Given the description of an element on the screen output the (x, y) to click on. 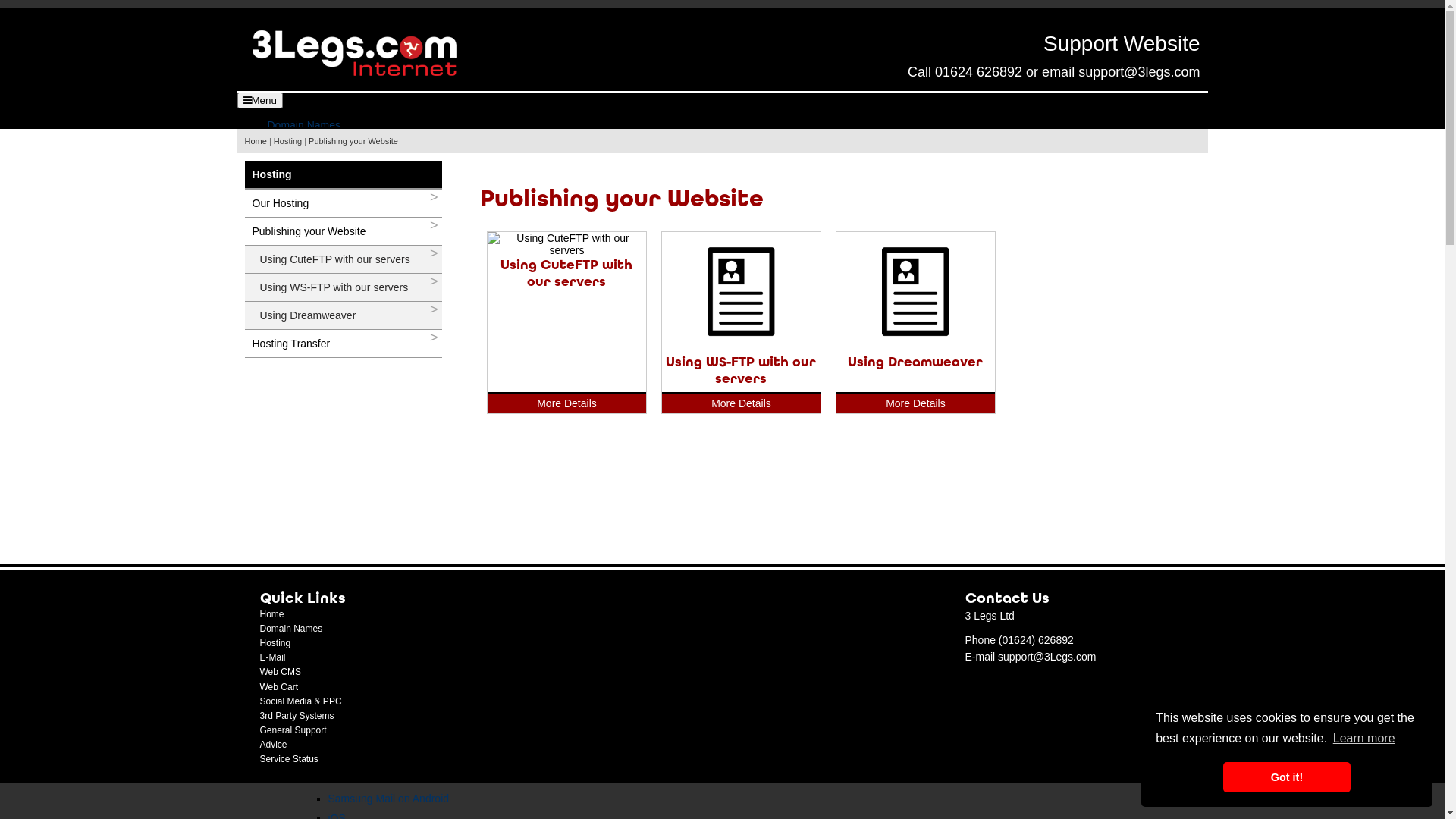
Hosting Element type: text (274, 642)
Transferring your website to Us Element type: text (400, 493)
Back to Homepage Element type: hover (353, 52)
Domain Administration Element type: text (350, 228)
E-Mail Element type: text (272, 657)
Samsung Mail on Android Element type: text (387, 798)
Releasing a Domain Name Element type: text (390, 390)
Gmail on Android Element type: text (367, 778)
Hosting Transfer Element type: text (342, 343)
Learn more Element type: text (1363, 738)
Using your existing domain name with our hosting Element type: text (444, 299)
3rd Party Systems Element type: text (296, 715)
Got it! Element type: text (1286, 777)
Using CuteFTP with our servers
More Details Element type: text (566, 264)
Outlook for Office 365 Element type: text (378, 739)
Whois Update Element type: text (360, 260)
Domain Transfers Element type: text (338, 358)
Cancellation of Registration Element type: text (392, 208)
Using Dreamweaver Element type: text (342, 315)
Domain Registrations Element type: text (347, 137)
Hosting Element type: text (284, 429)
Transferring your website to Us Element type: text (400, 410)
Advice Element type: text (272, 744)
Publishing your Website Element type: text (342, 230)
Web CMS Element type: text (279, 671)
Service Status Element type: text (288, 758)
Using CuteFTP with our servers Element type: text (342, 259)
Domain Names Element type: text (302, 125)
Mozilla Thunderbird Element type: text (373, 699)
support@3legs.com Element type: text (1138, 71)
Using WS-FTP with our servers Element type: text (342, 287)
Using Dreamweaver Element type: text (375, 604)
Registering a Domain Name Element type: text (394, 149)
Change of Nameserver Details Element type: text (399, 240)
Using Dreamweaver
More Details Element type: text (915, 304)
E-Mail Element type: text (281, 655)
Apple Mail Element type: text (351, 759)
Using CuteFTP with our servers Element type: text (402, 564)
General Support Element type: text (292, 729)
eM Client Element type: text (349, 680)
Windows 10 Element type: text (356, 719)
Using WS-FTP with our servers Element type: text (401, 584)
Publishing your Website Element type: text (353, 140)
Hosting Transfer Element type: text (336, 624)
Terms of Registration Element type: text (377, 169)
Our Hosting Element type: text (325, 442)
Setup Instructions Element type: text (339, 668)
Social Media & PPC Element type: text (300, 701)
Hosting Element type: text (287, 140)
Registrant Transfer (Change of Owner) Element type: text (419, 279)
Domain Names Element type: text (290, 628)
Website Bandwidth Element type: text (372, 533)
General FTP Information Element type: text (385, 454)
Home Element type: text (271, 613)
Transferring your website to another provider Element type: text (433, 513)
Our Hosting Element type: text (342, 202)
Publishing your Website Element type: text (354, 552)
Updating Nameservers on nic.im Element type: text (404, 338)
Renewal of Domain Name Registration Element type: text (419, 188)
Changing A Records for your domain name at GoDaddy Element type: text (458, 636)
Menu Element type: text (259, 100)
Page Names Element type: text (358, 473)
Transferring a Domain Name to 3 Legs Ltd Element type: text (427, 370)
Home Element type: text (255, 140)
Hosting Element type: text (342, 174)
01624 626892 Element type: text (978, 71)
Web Cart Element type: text (278, 686)
Using WS-FTP with our servers
More Details Element type: text (741, 313)
